Given the description of an element on the screen output the (x, y) to click on. 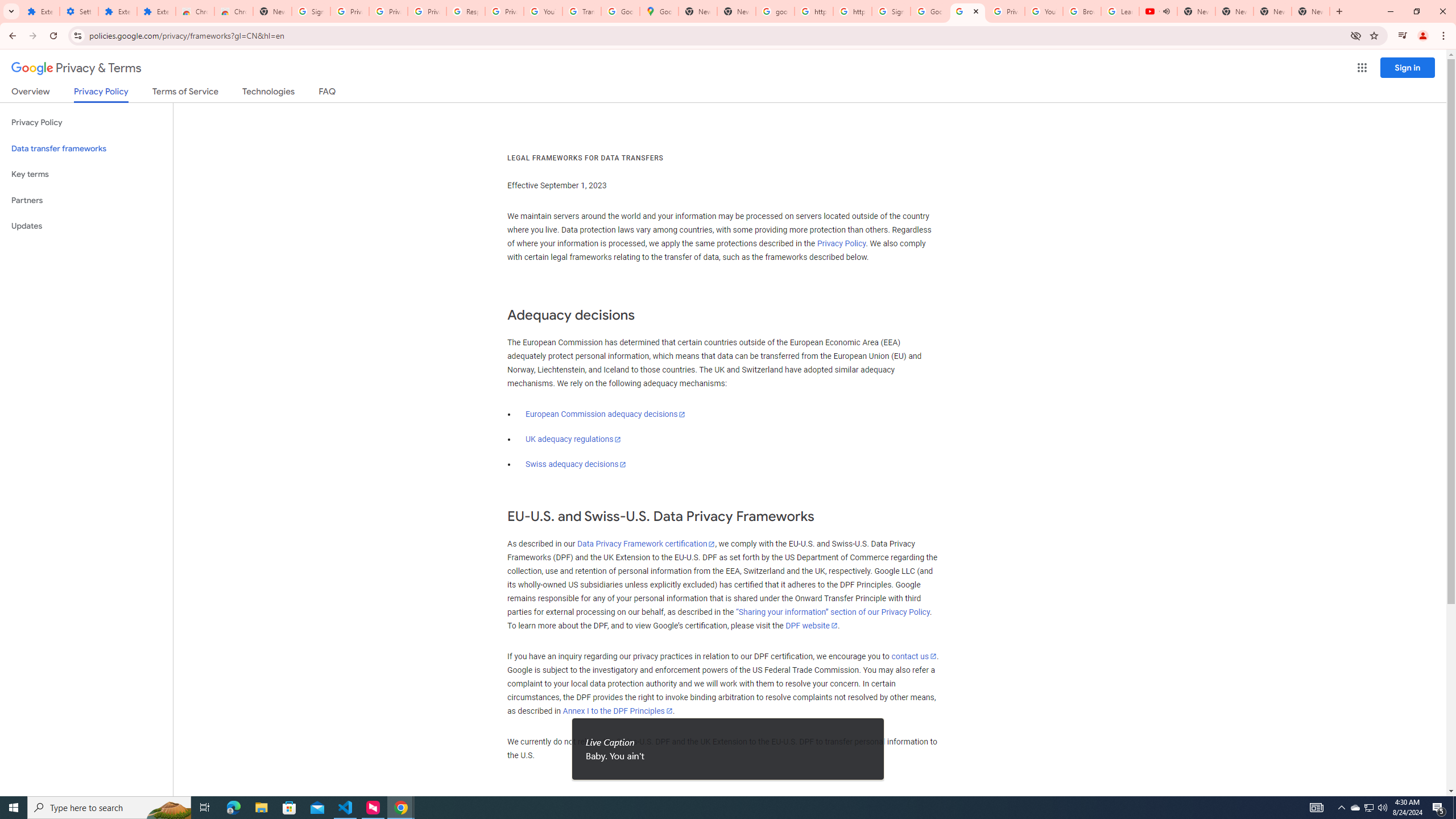
Chrome Web Store - Themes (233, 11)
